Given the description of an element on the screen output the (x, y) to click on. 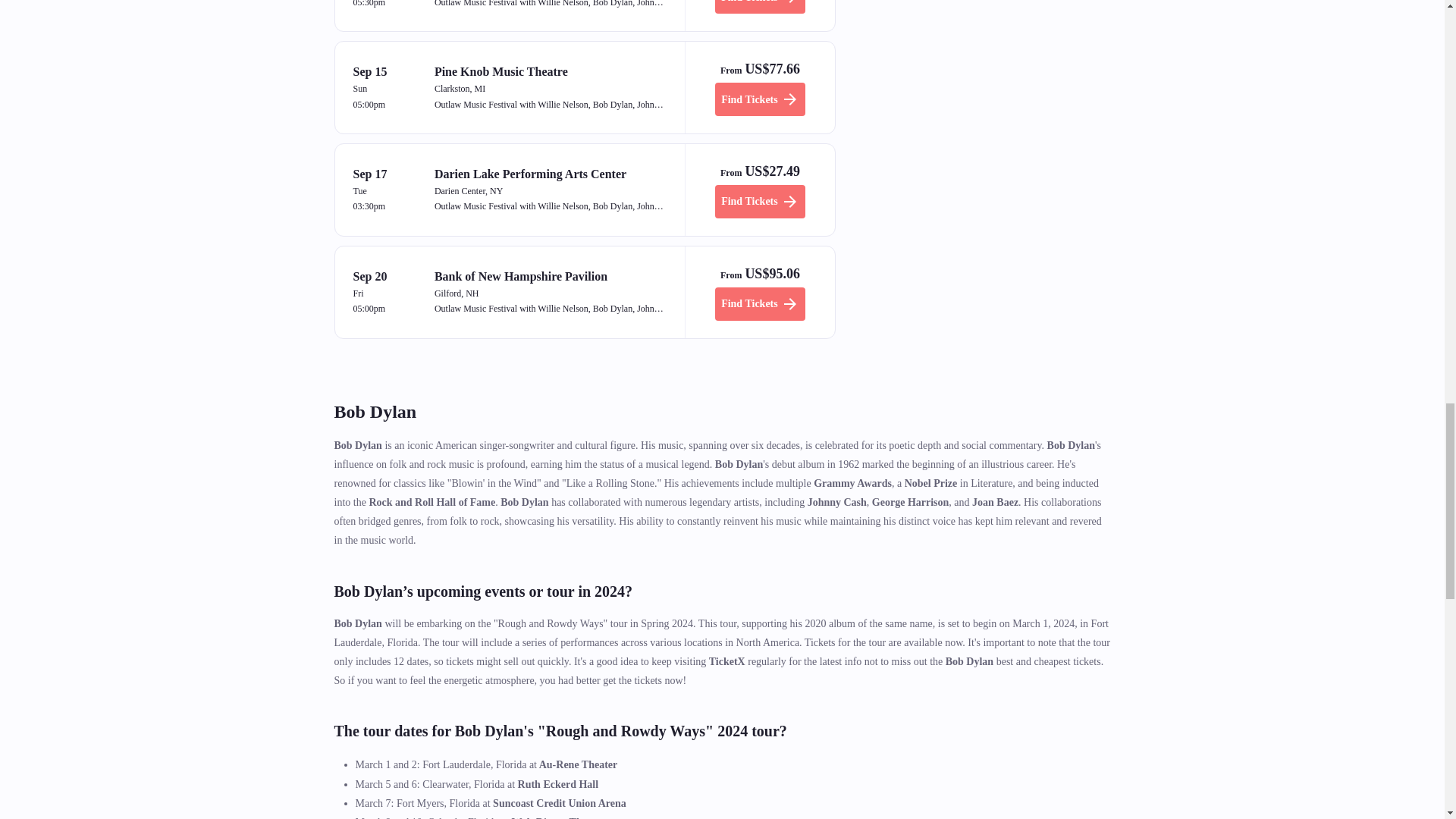
Find Tickets (759, 304)
Find Tickets (759, 6)
Find Tickets (759, 99)
Find Tickets (759, 201)
